Given the description of an element on the screen output the (x, y) to click on. 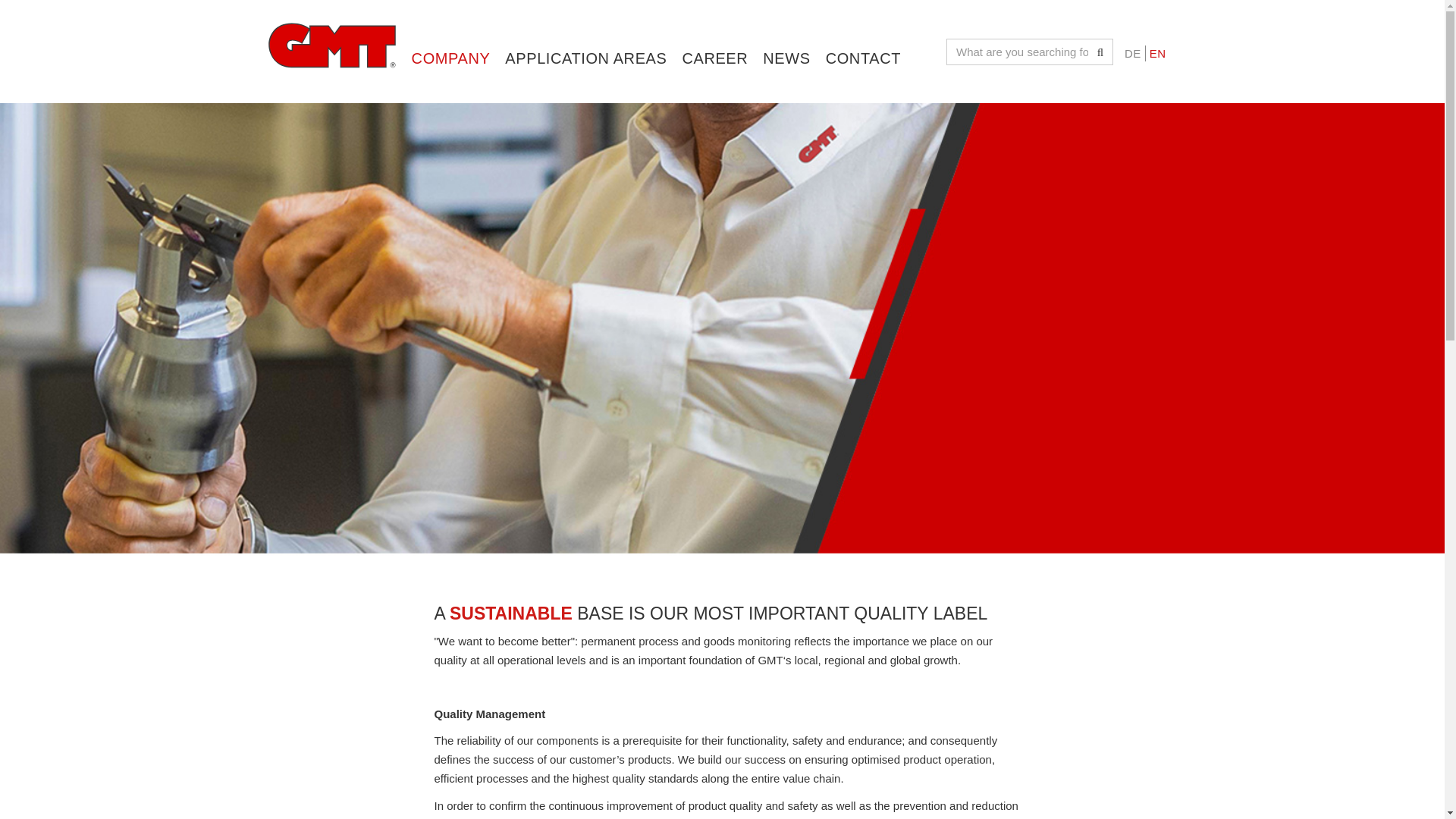
APPLICATION AREAS (585, 33)
CONTACT (863, 33)
EN (1157, 53)
CAREER (714, 33)
DE (1133, 53)
COMPANY (450, 33)
NEWS (785, 33)
zur Startseite (331, 44)
